Given the description of an element on the screen output the (x, y) to click on. 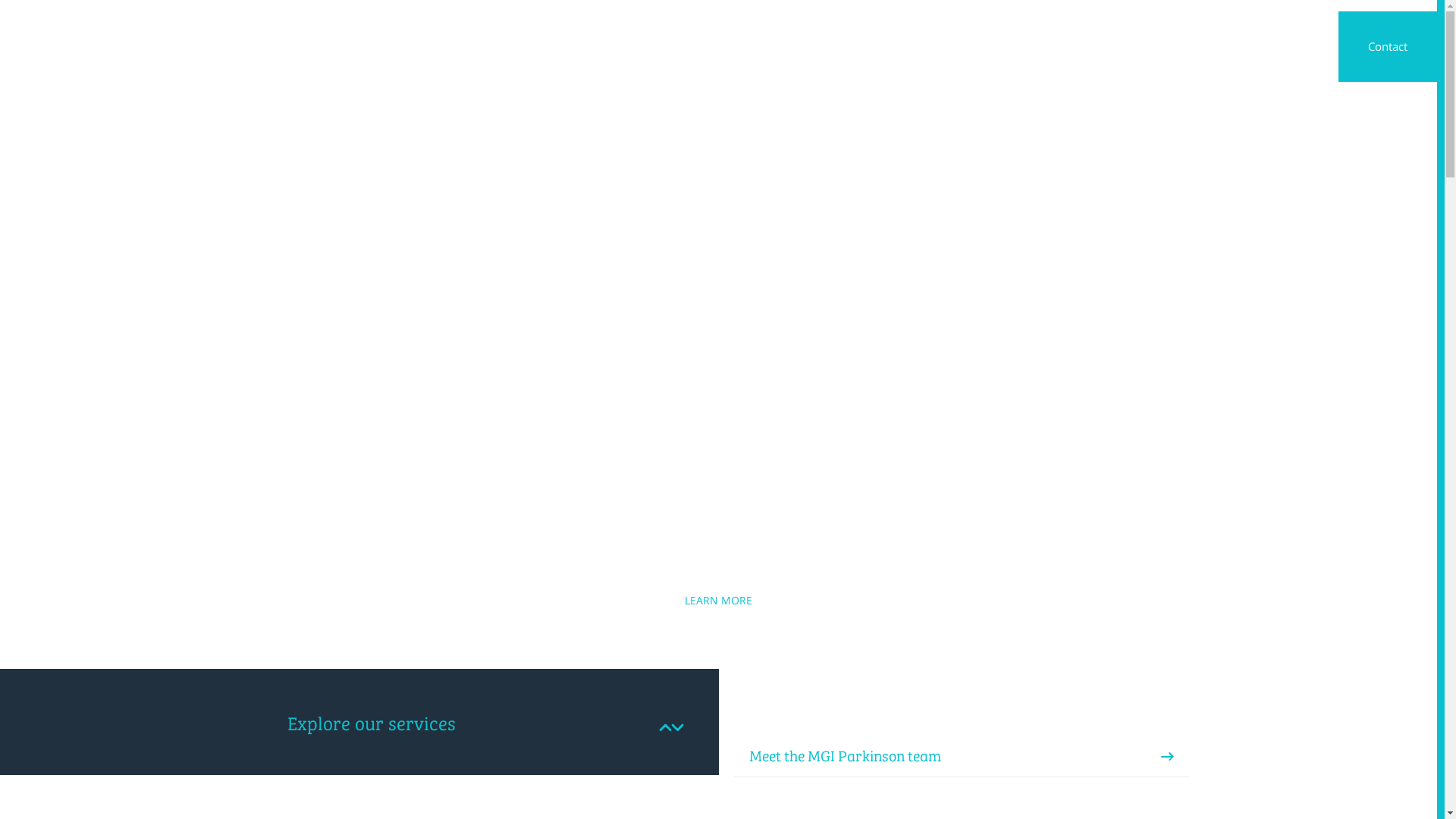
Who we are Element type: text (921, 45)
Resources Element type: text (1271, 45)
Blog Element type: text (1116, 45)
Contact Element type: text (1387, 45)
LEARN MORE Element type: text (718, 600)
Explore our services Element type: text (359, 704)
Online Payments Element type: text (1186, 45)
Meet the MGI Parkinson team Element type: text (845, 755)
Services Element type: text (987, 45)
Client Stories Element type: text (1056, 45)
Home Element type: text (857, 55)
